Given the description of an element on the screen output the (x, y) to click on. 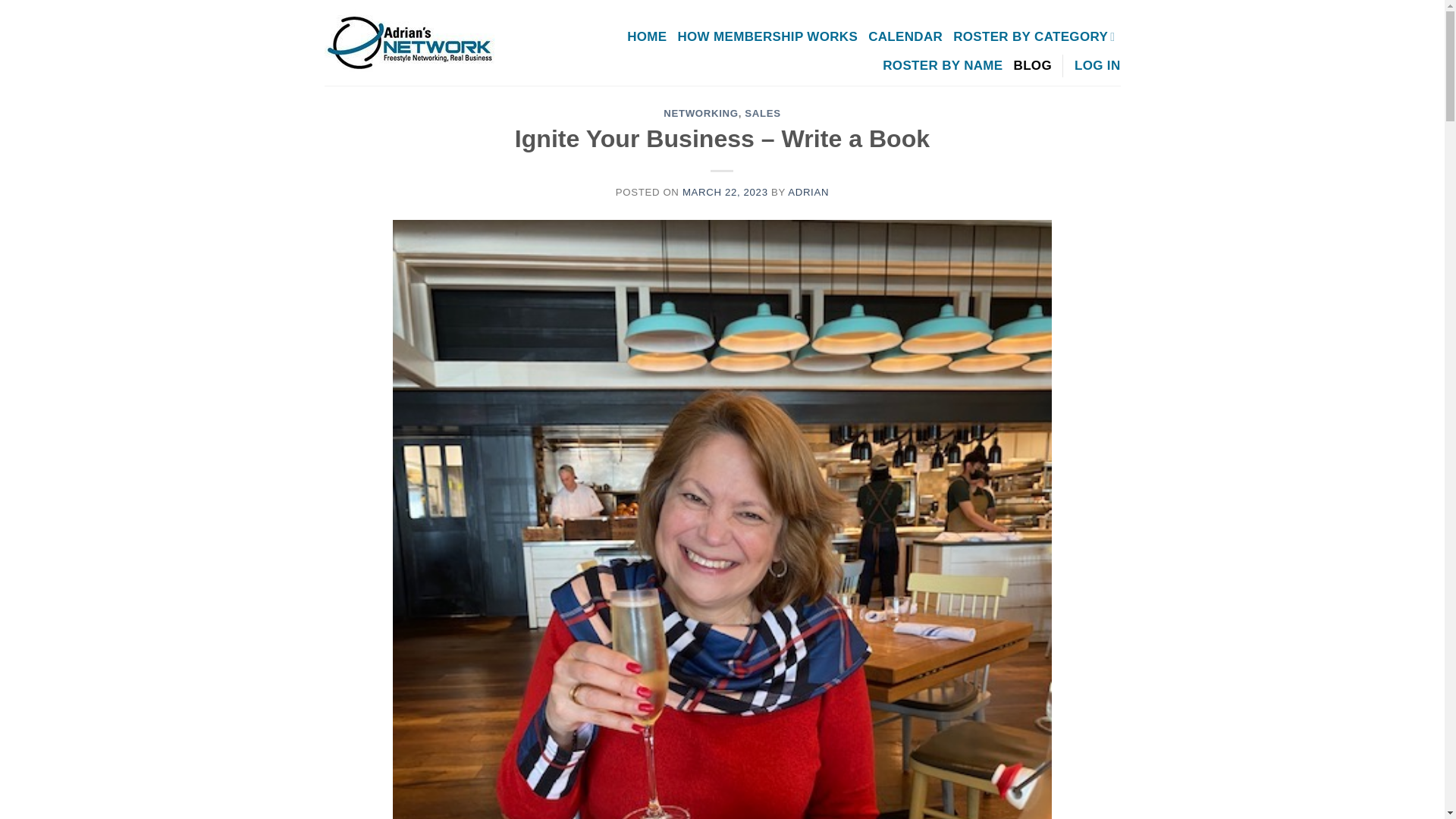
Adrians Network - Freestyle Networking, Real Business (418, 42)
ADRIAN (807, 192)
NETWORKING (700, 112)
CALENDAR (904, 36)
HOME (646, 36)
SALES (762, 112)
LOG IN (1097, 65)
BLOG (1032, 65)
ROSTER BY NAME (942, 65)
HOW MEMBERSHIP WORKS (767, 36)
MARCH 22, 2023 (725, 192)
ROSTER BY CATEGORY (1034, 36)
